Given the description of an element on the screen output the (x, y) to click on. 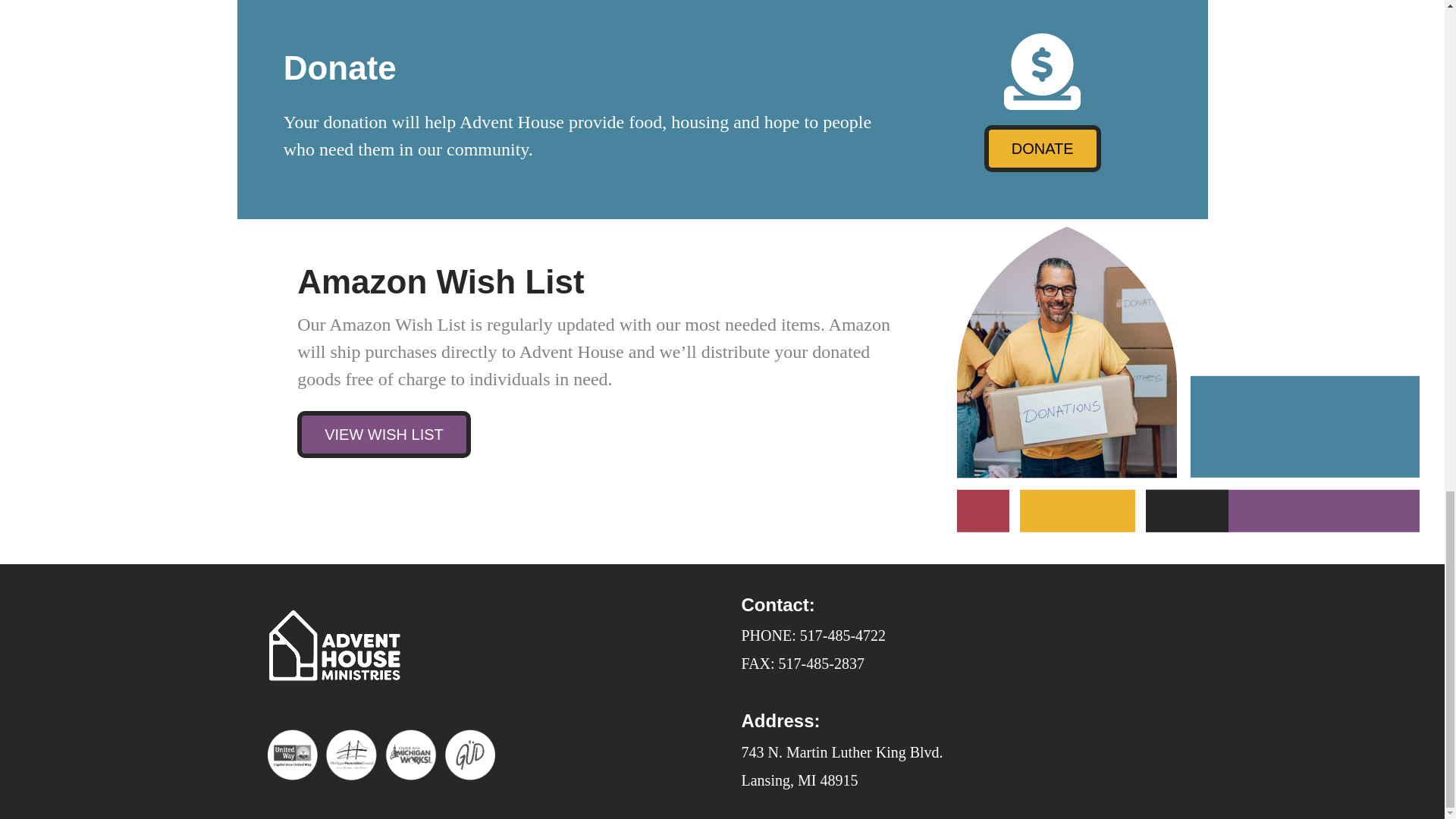
VIEW WISH LIST (383, 434)
DONATE (1042, 148)
